Given the description of an element on the screen output the (x, y) to click on. 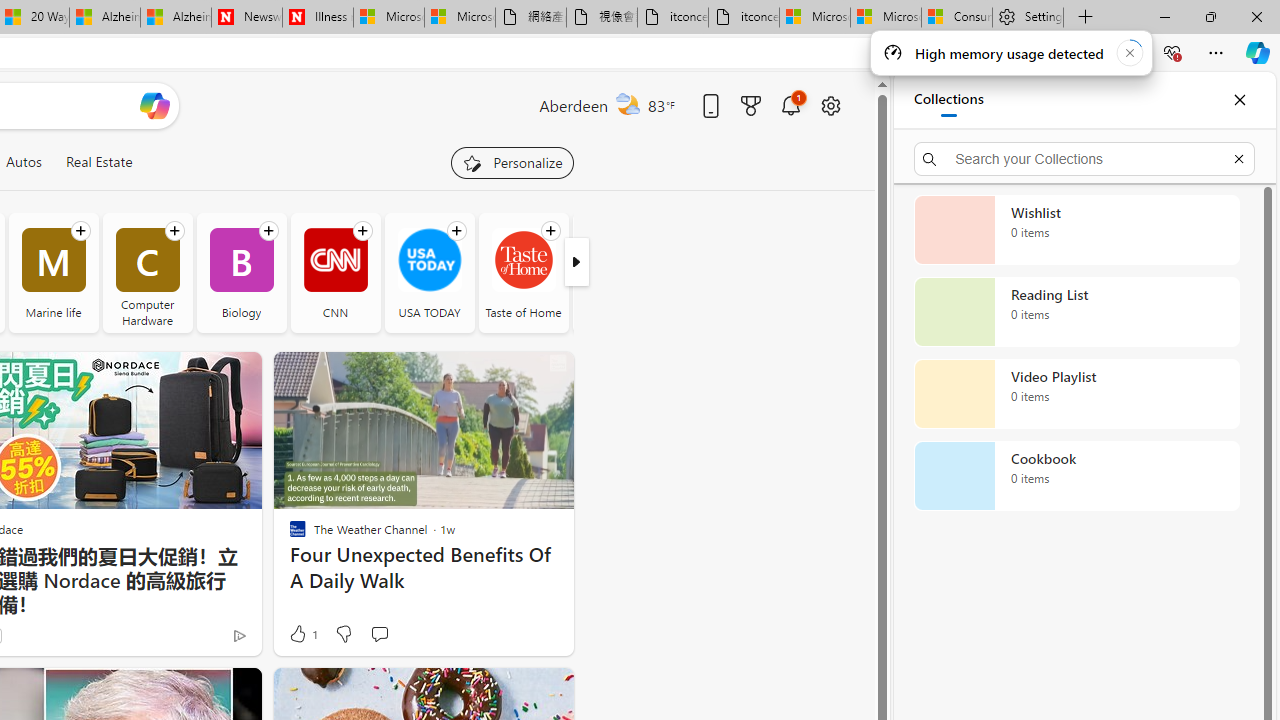
Autos (23, 161)
Open settings (830, 105)
Exit search (1238, 158)
Follow channel (550, 231)
Computer Hardware (147, 272)
Search your Collections (1084, 158)
